Given the description of an element on the screen output the (x, y) to click on. 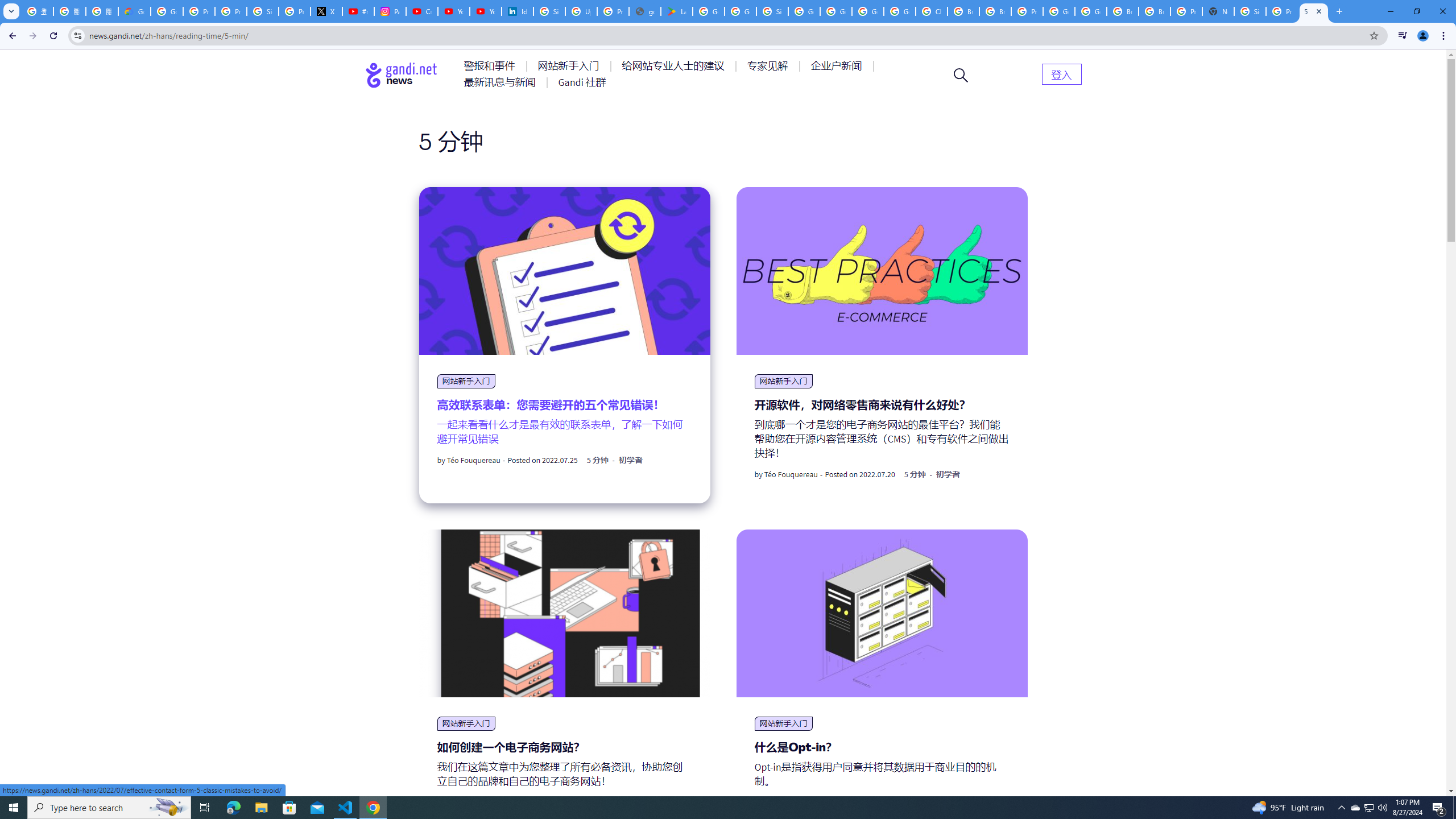
Sign in - Google Accounts (772, 11)
Google Workspace - Specific Terms (740, 11)
Control your music, videos, and more (1402, 35)
Sign in - Google Accounts (549, 11)
Sign in - Google Accounts (1249, 11)
#nbabasketballhighlights - YouTube (358, 11)
AutomationID: menu-item-77763 (674, 65)
AutomationID: menu-item-77765 (838, 65)
Google Cloud Privacy Notice (134, 11)
